Given the description of an element on the screen output the (x, y) to click on. 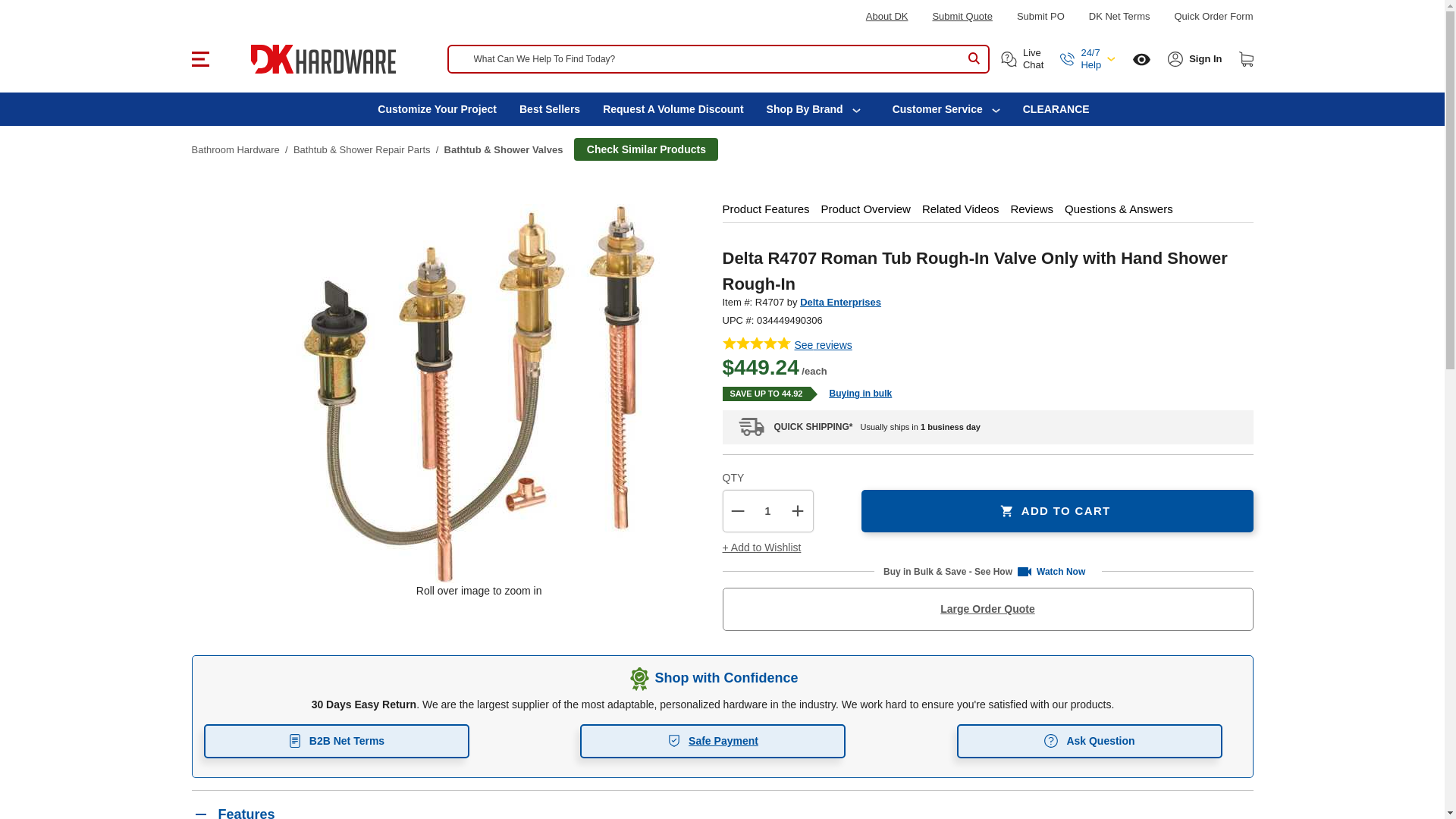
opens Buying in bulk in a new window (853, 393)
Check Similar Products (645, 149)
Sign In (1205, 59)
Ask Question (1089, 740)
opens Large Order Quote in a new window (987, 609)
opens Safe Payment in a new window (712, 740)
1 (767, 510)
Features (721, 804)
Best Sellers (549, 109)
Buying in bulk (853, 393)
Bathroom Hardware (234, 149)
Delta Enterprises (839, 301)
DK Hardware (322, 59)
About DK (887, 16)
